Given the description of an element on the screen output the (x, y) to click on. 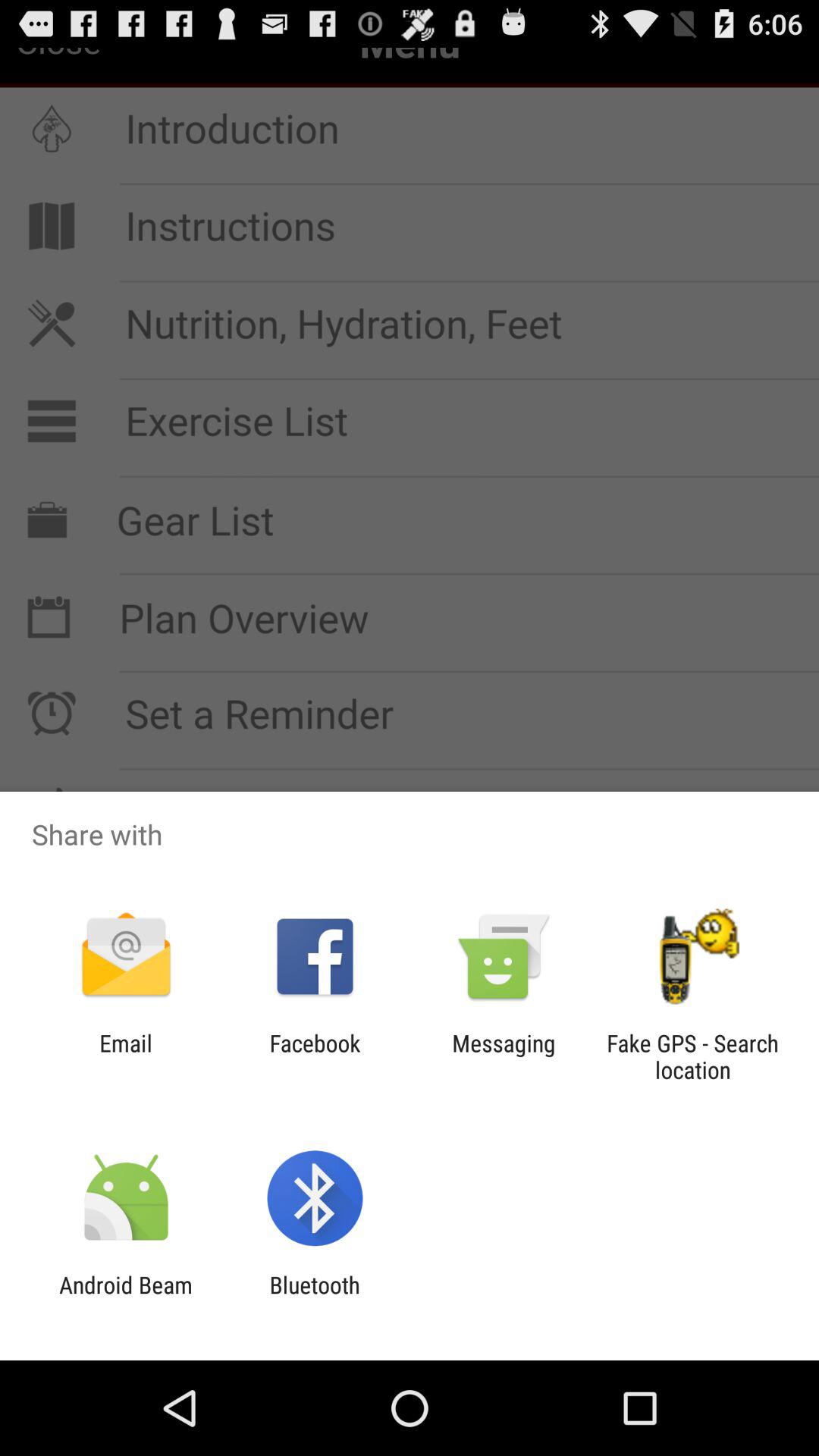
scroll to the messaging (503, 1056)
